Given the description of an element on the screen output the (x, y) to click on. 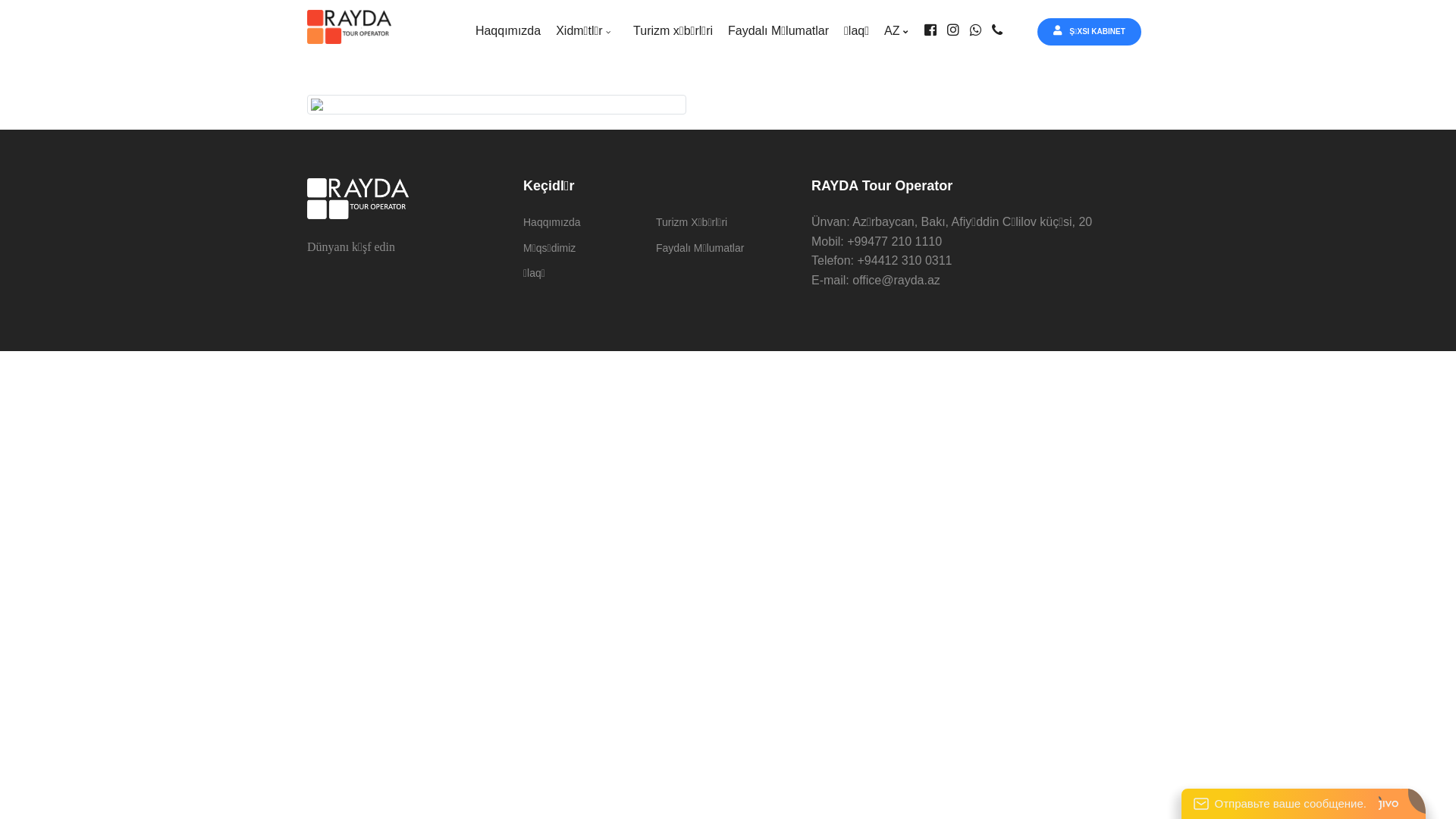
Whatsapp Element type: hover (978, 30)
Phone Element type: hover (1000, 30)
AZ Element type: text (899, 30)
facebook Element type: hover (934, 30)
+99477 210 1110 Element type: text (894, 241)
instagram Element type: hover (956, 30)
+94412 310 0311 Element type: text (903, 260)
